Given the description of an element on the screen output the (x, y) to click on. 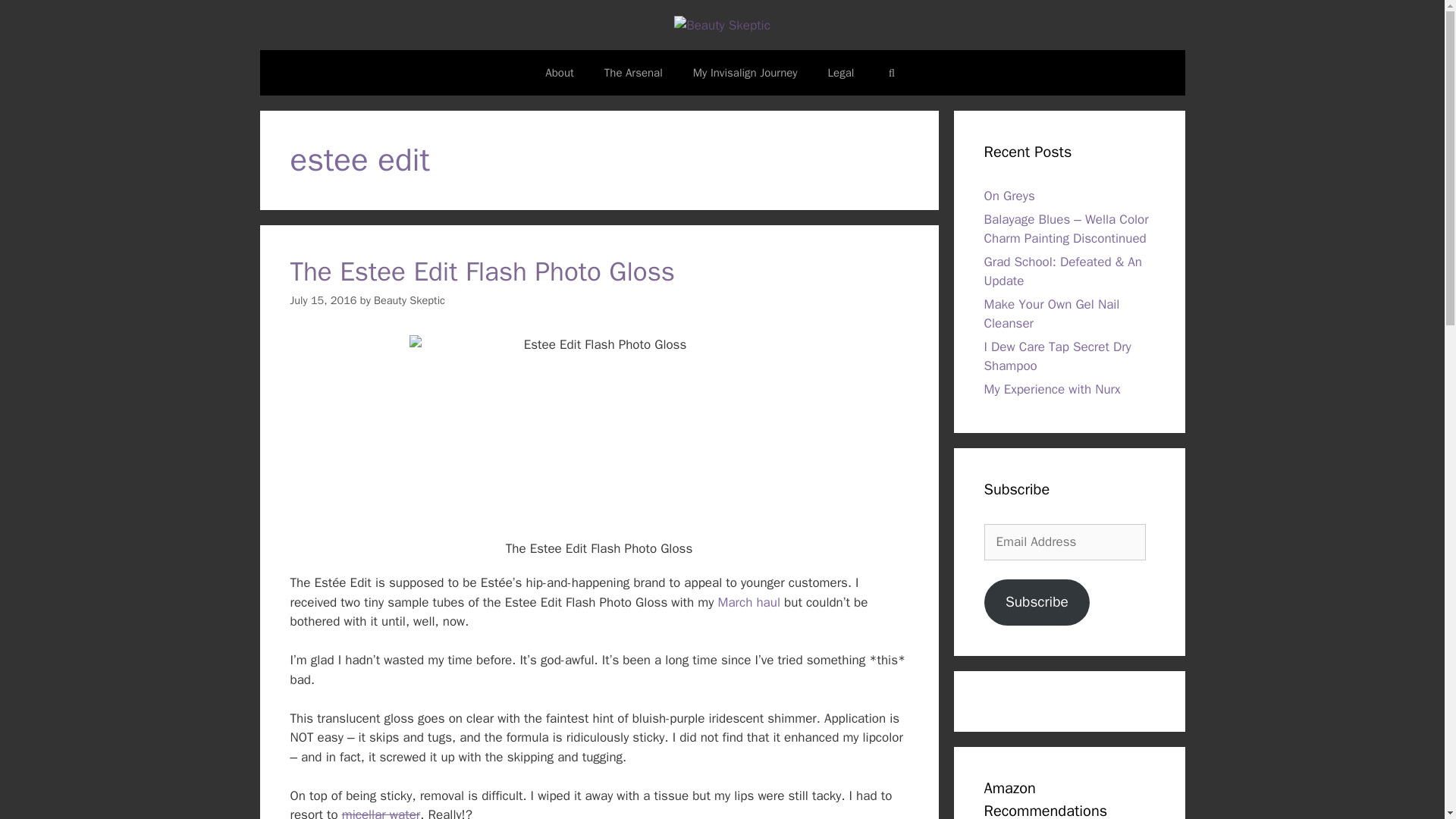
Beauty Skeptic (409, 300)
I Dew Care Tap Secret Dry Shampoo (1057, 356)
On Greys (1009, 195)
micellar water (381, 812)
March haul (748, 602)
About (558, 72)
My Experience with Nurx (1052, 389)
My Invisalign Journey (745, 72)
Make Your Own Gel Nail Cleanser (1051, 314)
The Estee Edit Flash Photo Gloss (482, 271)
